Given the description of an element on the screen output the (x, y) to click on. 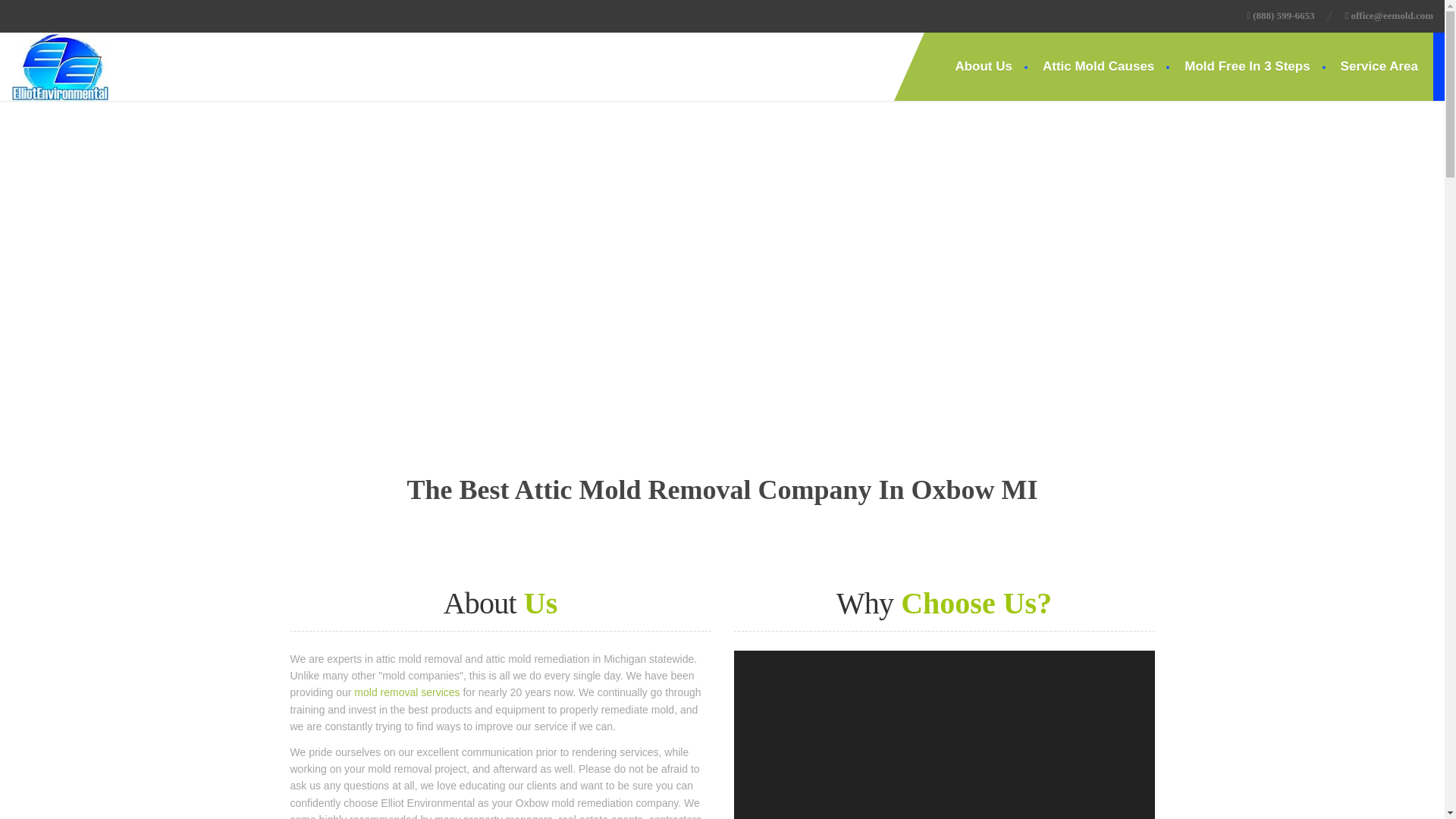
Michigan Attic Mold Removal (60, 66)
Mold Free In 3 Steps (1246, 66)
mold removal services (406, 692)
About Us (983, 66)
Service Area (1378, 66)
Attic Mold Causes (1098, 66)
